Given the description of an element on the screen output the (x, y) to click on. 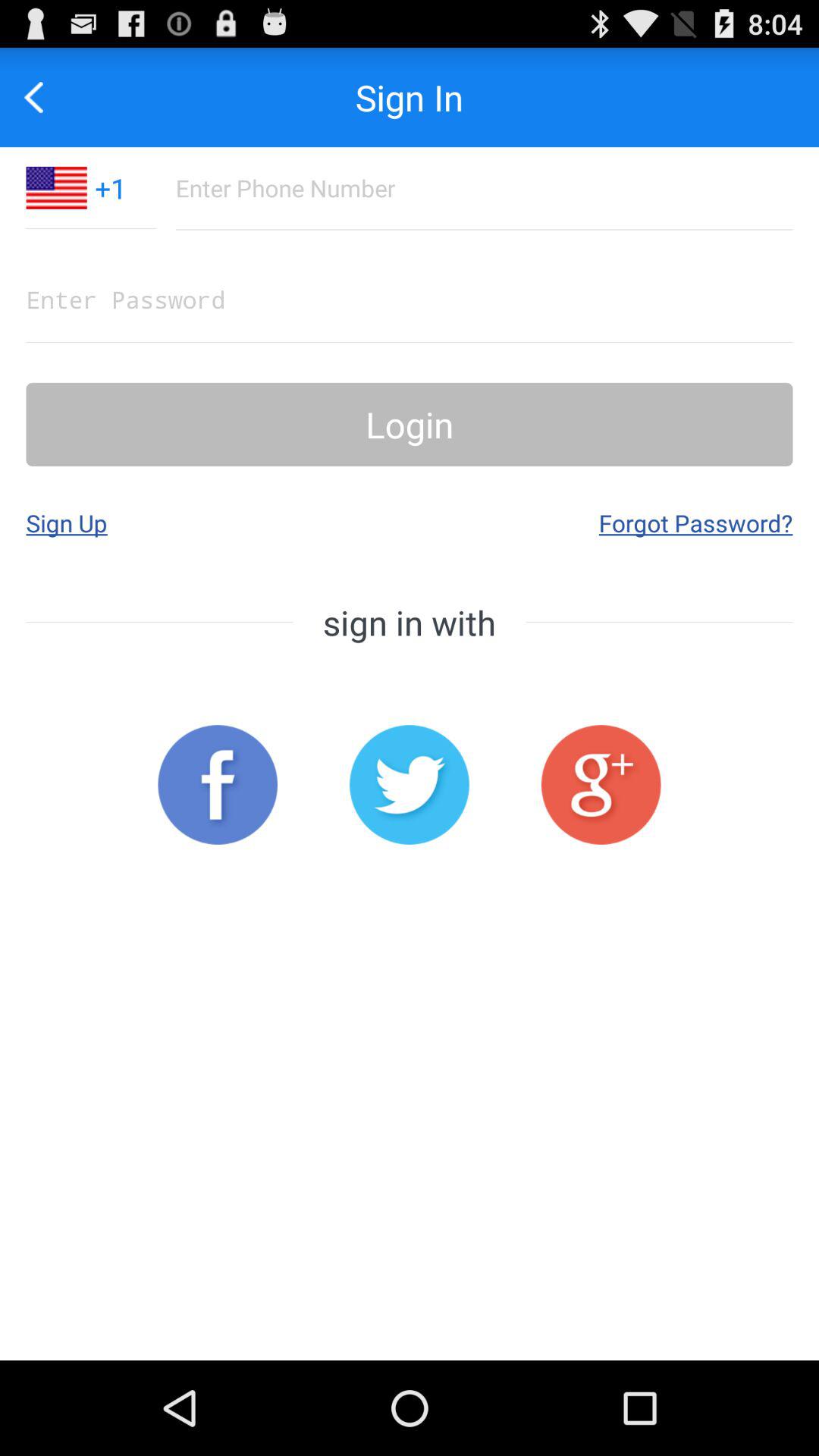
tap the app to the left of the +1 icon (41, 97)
